Given the description of an element on the screen output the (x, y) to click on. 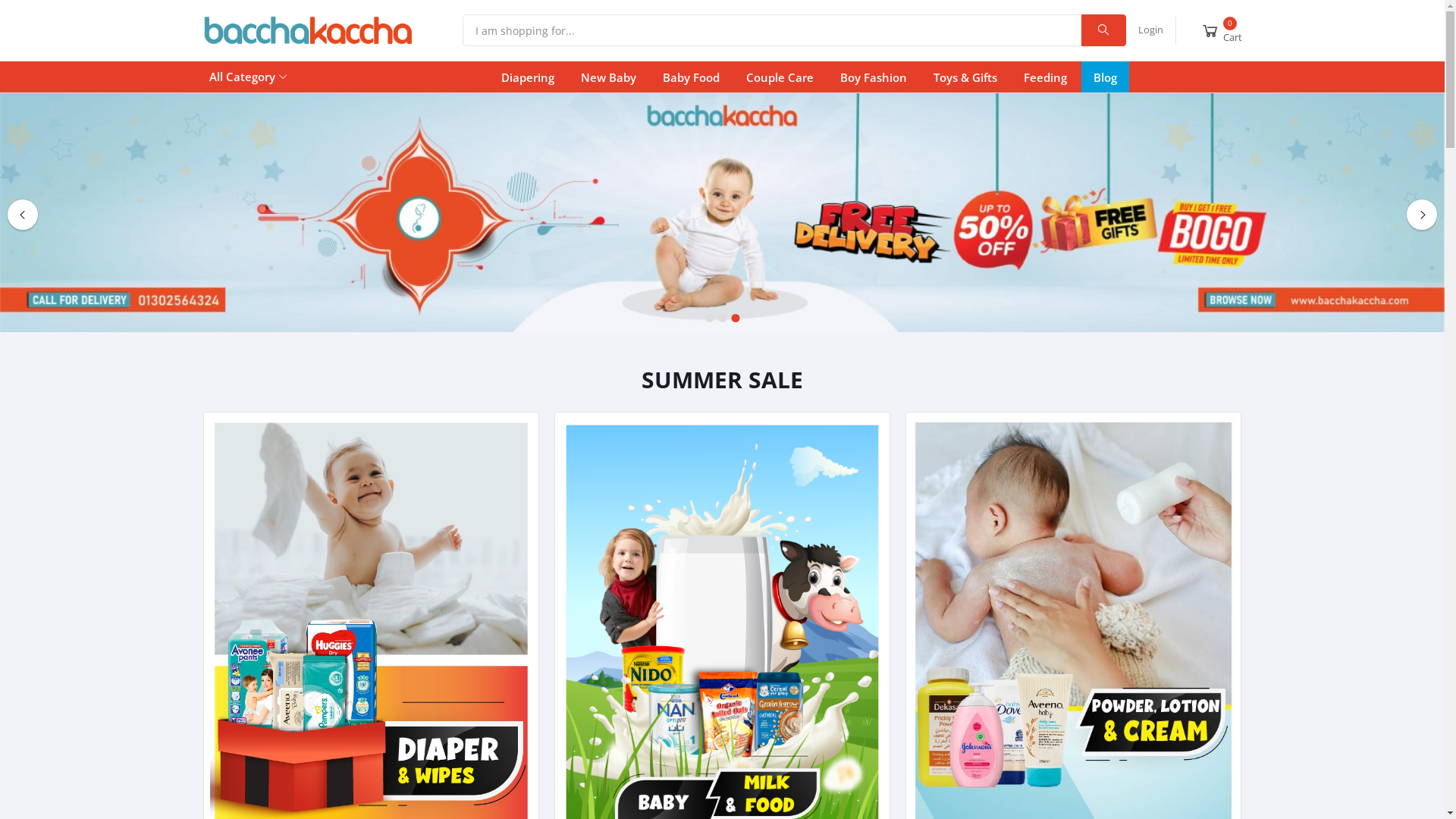
Couple Care Element type: text (779, 77)
3 Element type: text (735, 317)
Feeding Element type: text (1045, 77)
New Baby Element type: text (608, 77)
0
Cart Element type: text (1220, 30)
Diapering Element type: text (527, 77)
2 Element type: text (722, 317)
Boy Fashion Element type: text (873, 77)
Toys & Gifts Element type: text (965, 77)
Baby Food Element type: text (690, 77)
1 Element type: text (709, 317)
Login Element type: text (1149, 29)
Blog Element type: text (1105, 77)
